Given the description of an element on the screen output the (x, y) to click on. 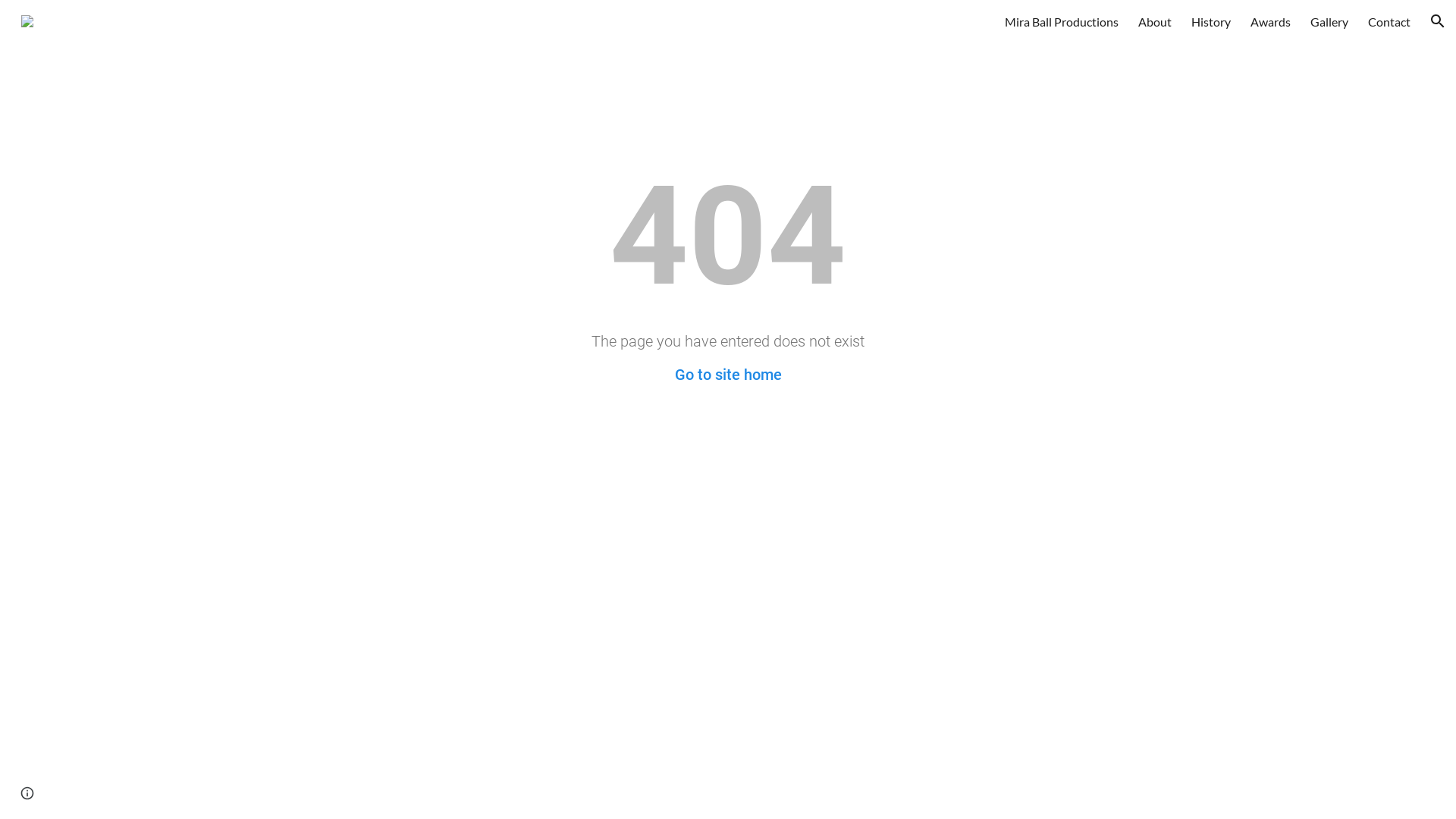
About Element type: text (1154, 20)
Go to site home Element type: text (727, 374)
History Element type: text (1210, 20)
Gallery Element type: text (1329, 20)
Mira Ball Productions Element type: text (1061, 20)
Awards Element type: text (1270, 20)
Contact Element type: text (1389, 20)
